Given the description of an element on the screen output the (x, y) to click on. 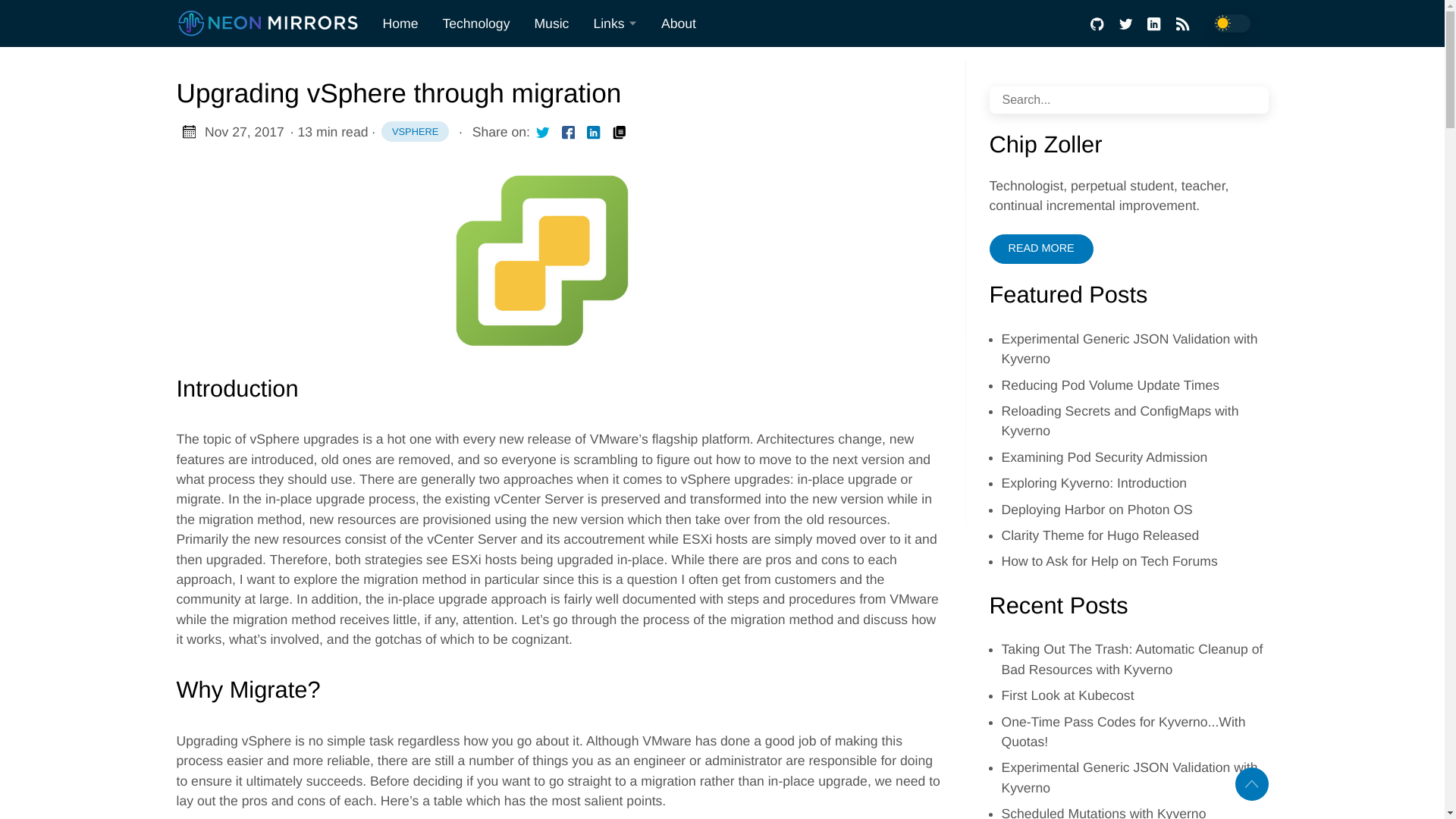
Share on Facebook (568, 131)
About (678, 23)
linkedin (593, 131)
twitter (1125, 24)
twitter (541, 132)
Copy Link (619, 131)
github (1096, 24)
Links (614, 23)
on (1230, 23)
Share on LinkedIn (593, 131)
Exploring Kyverno: Introduction (1093, 482)
linkedin (1152, 23)
Deploying Harbor on Photon OS (1096, 509)
linkedin (592, 132)
VSPHERE (414, 131)
